Given the description of an element on the screen output the (x, y) to click on. 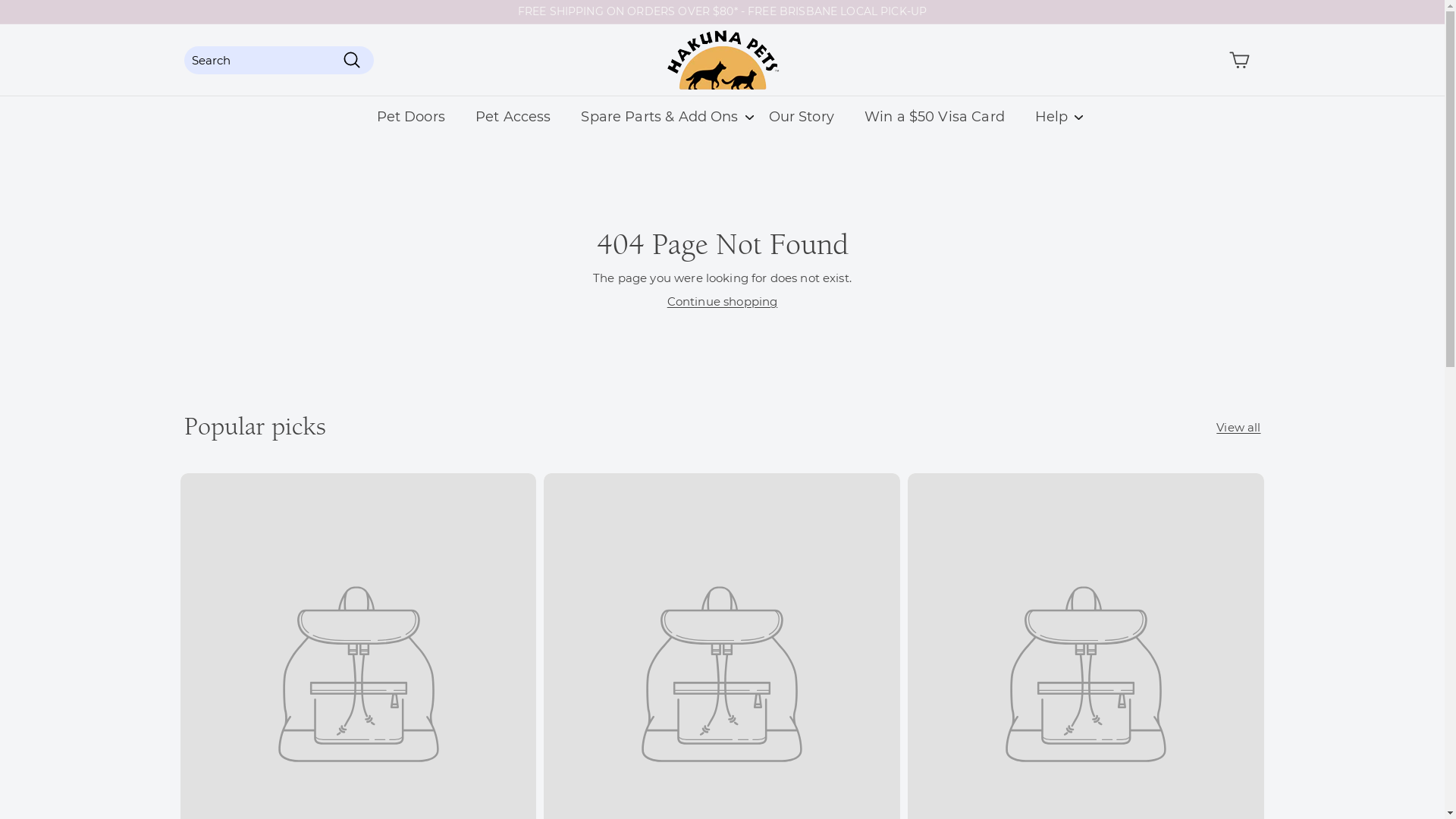
Our Story Element type: text (801, 116)
Continue shopping Element type: text (722, 301)
View all Element type: text (1238, 427)
Pet Access Element type: text (513, 116)
Spare Parts & Add Ons Element type: text (659, 116)
Pet Doors Element type: text (410, 116)
Help Element type: text (1051, 116)
Win a $50 Visa Card Element type: text (934, 116)
